Given the description of an element on the screen output the (x, y) to click on. 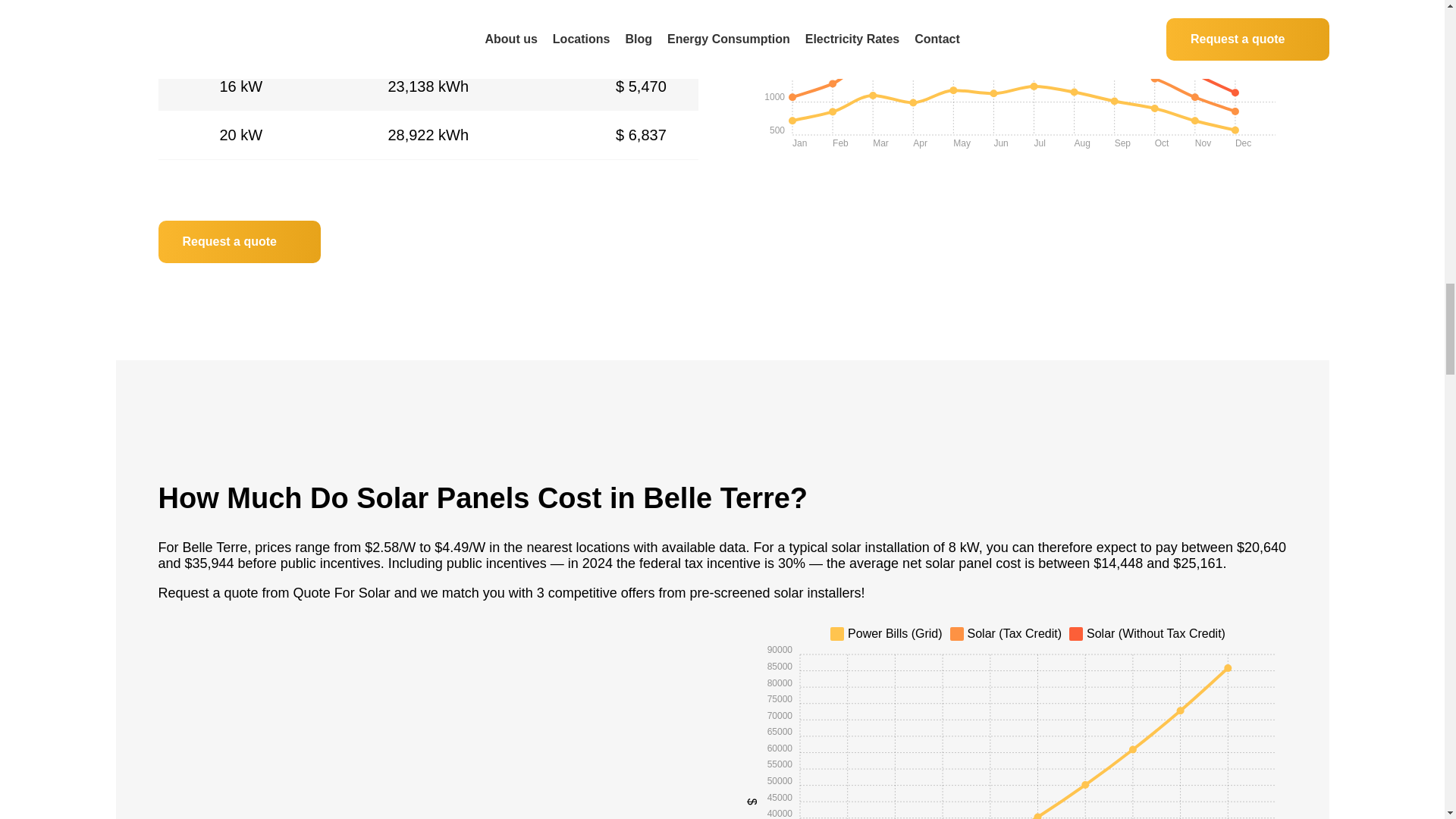
Request a quote (238, 241)
